Given the description of an element on the screen output the (x, y) to click on. 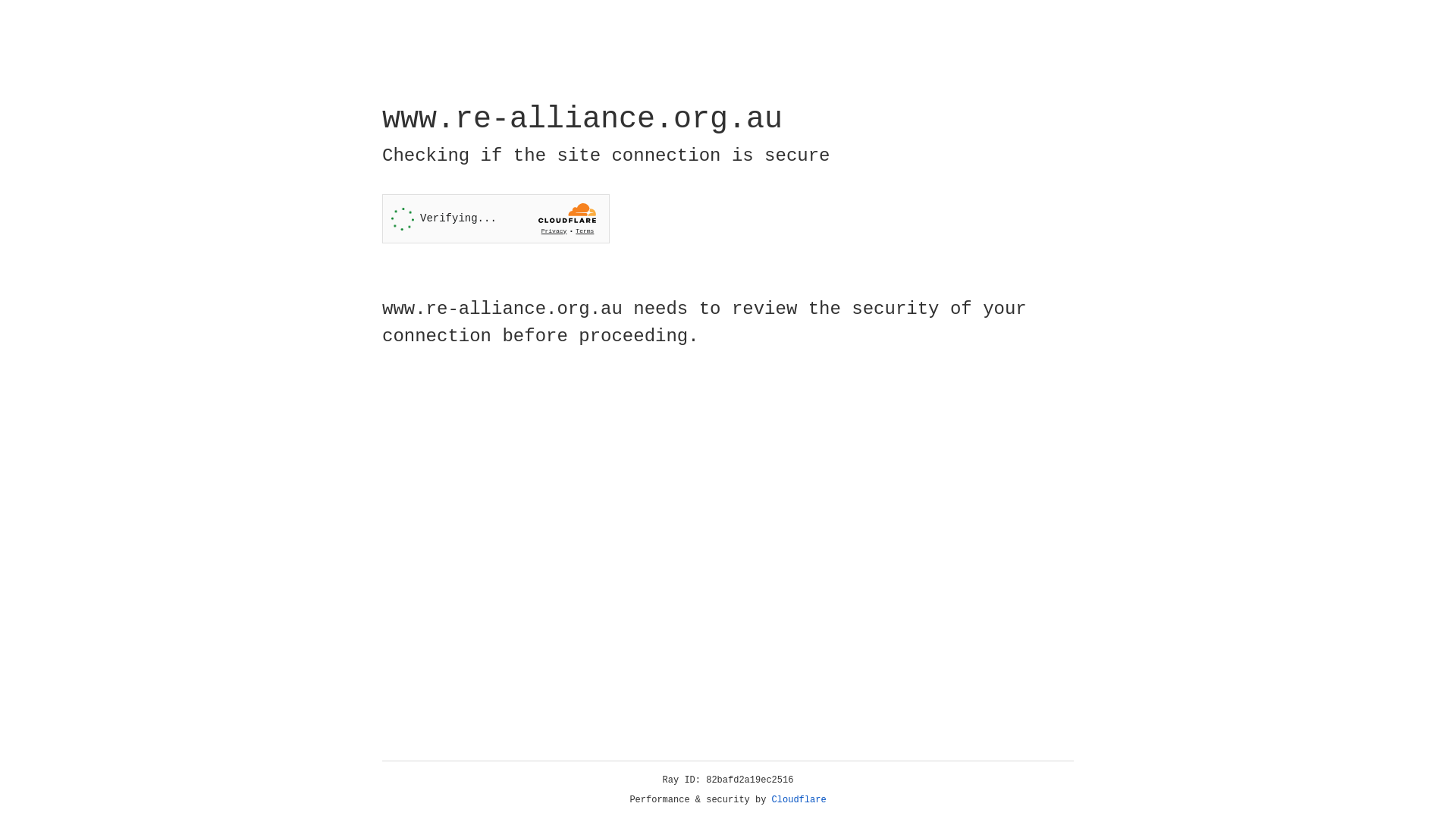
Cloudflare Element type: text (798, 799)
